Given the description of an element on the screen output the (x, y) to click on. 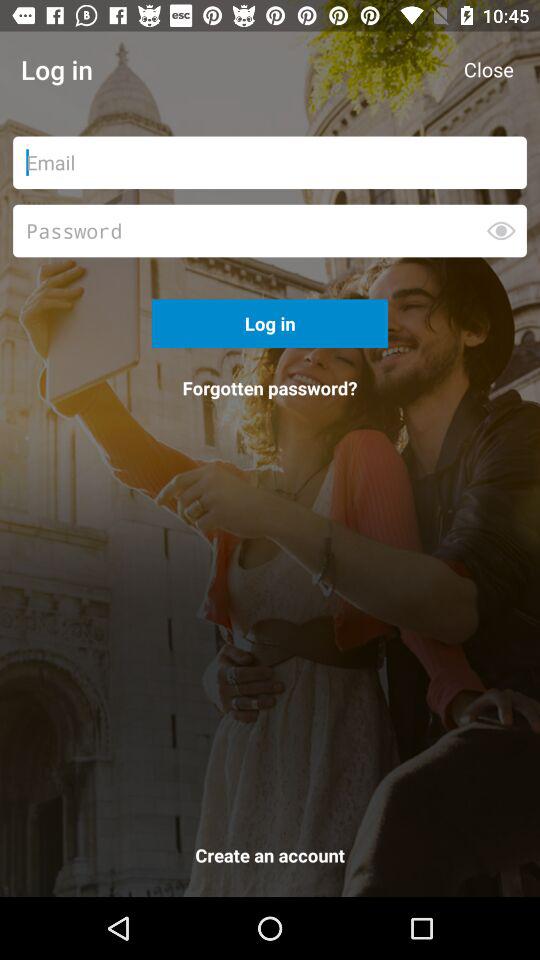
select icon below forgotten password? item (269, 859)
